Given the description of an element on the screen output the (x, y) to click on. 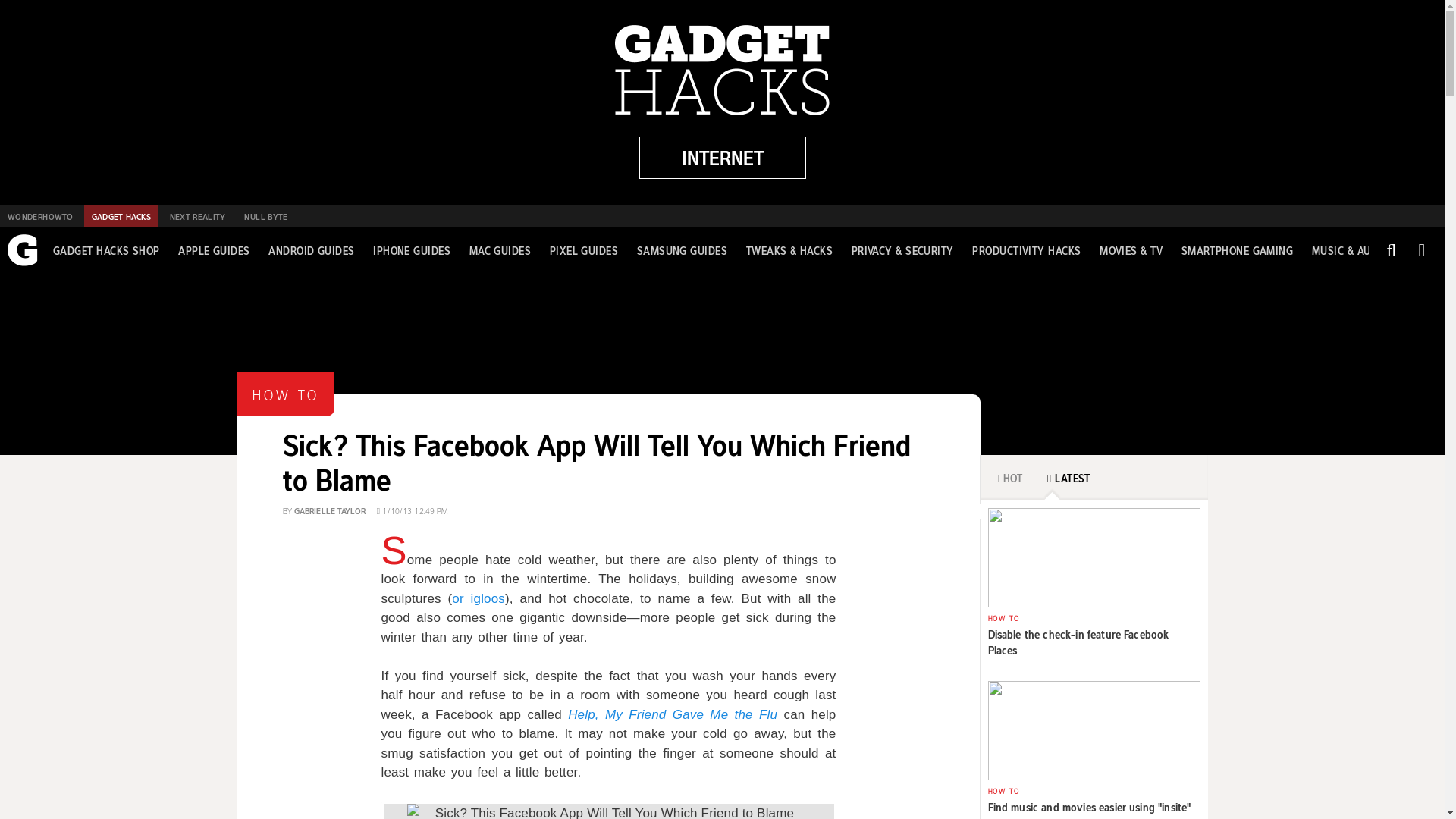
SMARTPHONE GAMING (1237, 249)
GADGET HACKS SHOP (106, 249)
INTERNET (722, 157)
GABRIELLE TAYLOR (329, 509)
SAMSUNG GUIDES (681, 249)
IPHONE GUIDES (410, 249)
NULL BYTE (265, 215)
NEXT REALITY (196, 215)
Sick? This Facebook App Will Tell You Which Friend to Blame (596, 458)
MAC GUIDES (499, 249)
or igloos (478, 598)
PRODUCTIVITY HACKS (1026, 249)
PIXEL GUIDES (583, 249)
Help, My Friend Gave Me the Flu (672, 714)
APPLE GUIDES (212, 249)
